Given the description of an element on the screen output the (x, y) to click on. 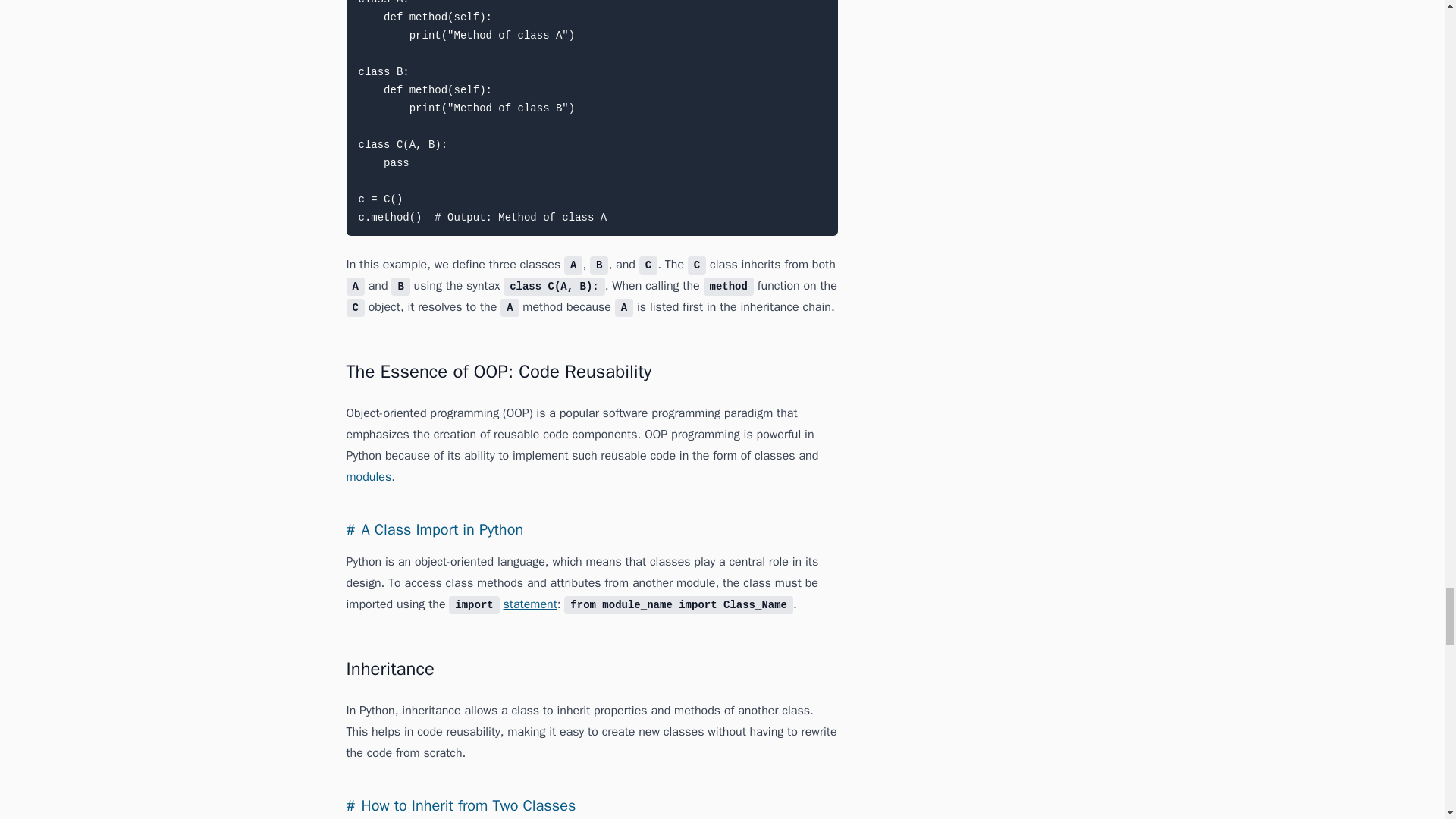
statement (530, 604)
modules (368, 476)
